Given the description of an element on the screen output the (x, y) to click on. 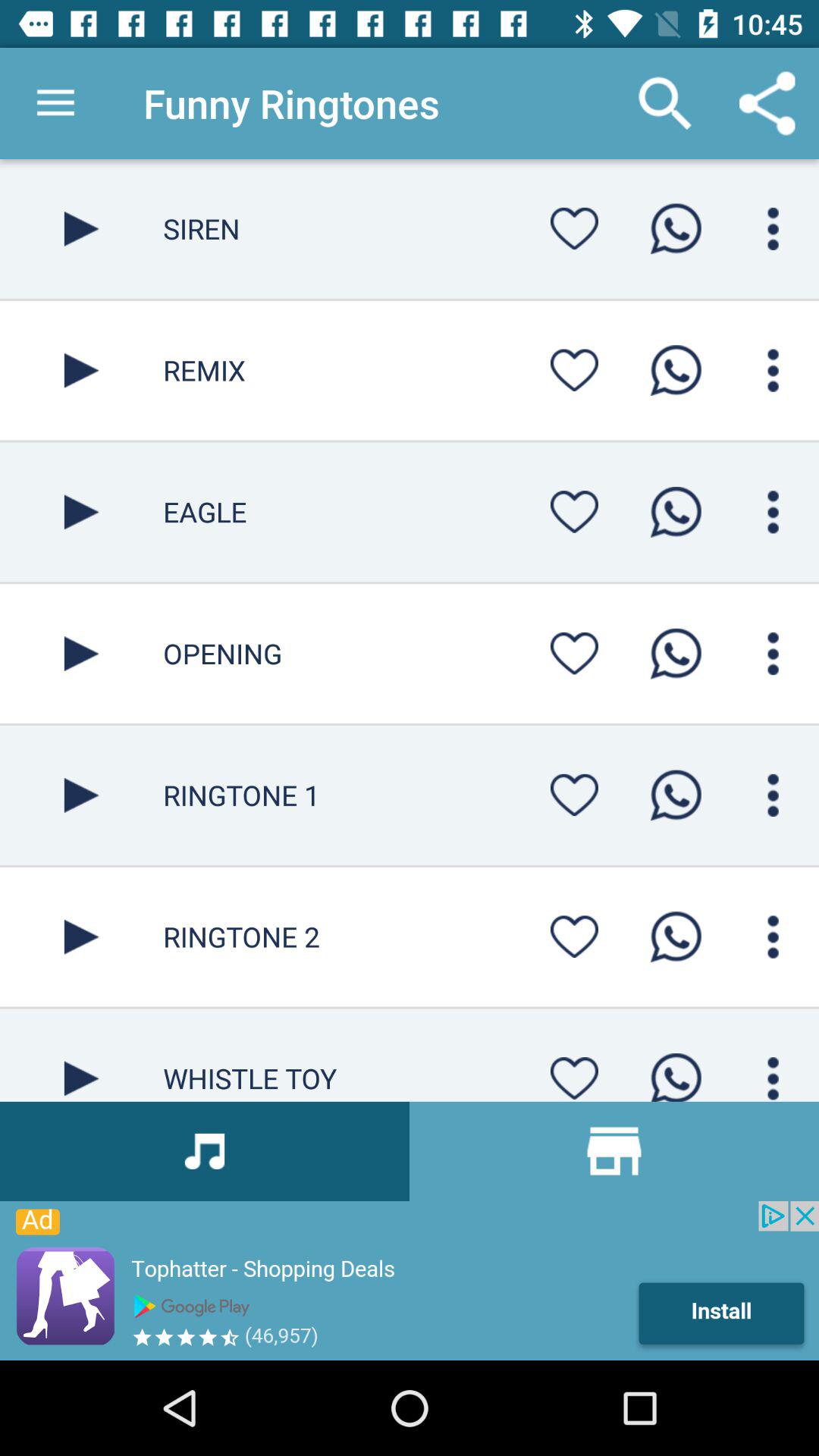
like button (574, 1074)
